Given the description of an element on the screen output the (x, y) to click on. 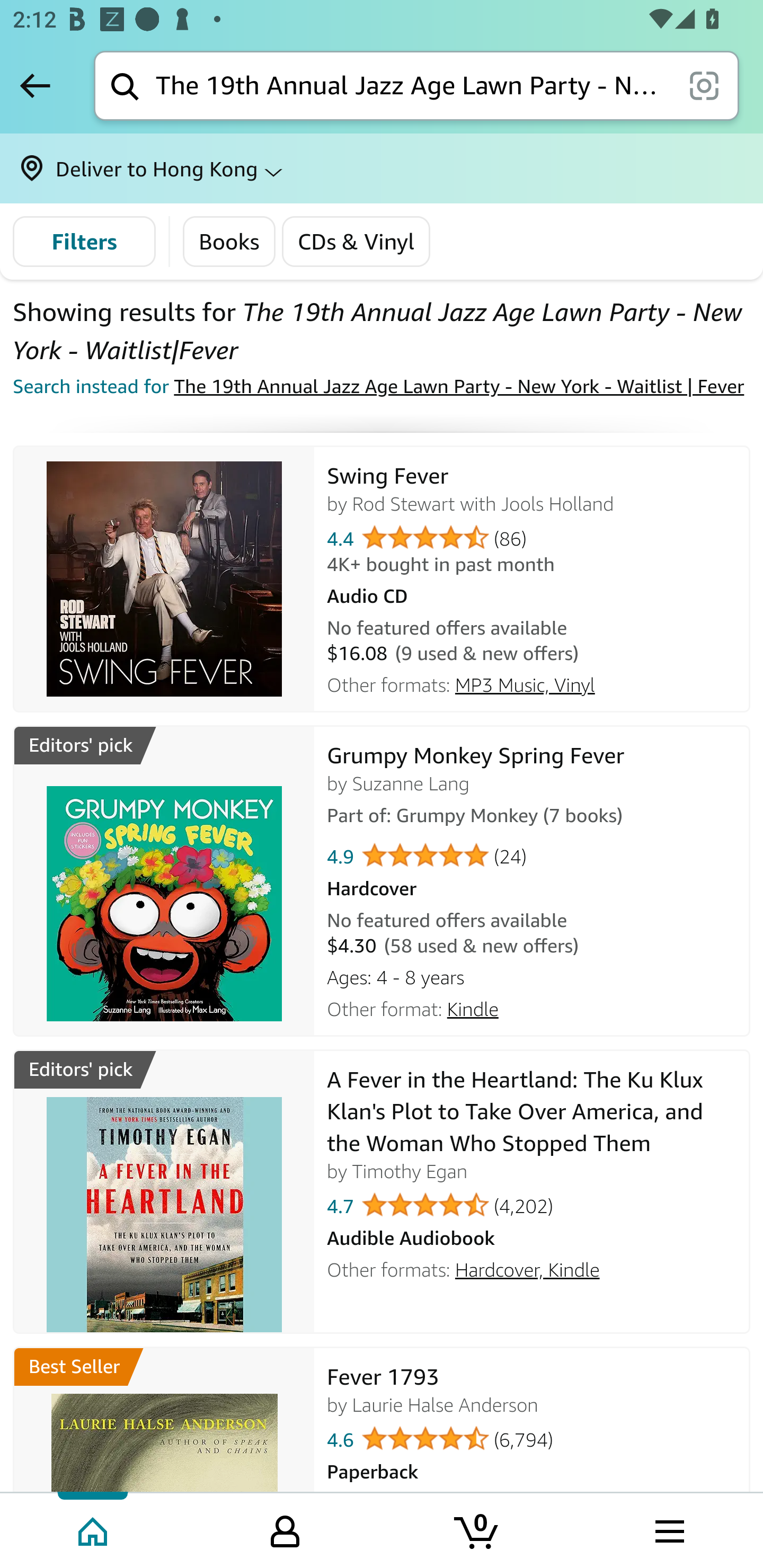
Back (35, 85)
scan it (704, 85)
Deliver to Hong Kong ⌵ (381, 168)
Filters (83, 241)
Books (229, 241)
CDs & Vinyl (356, 241)
Swing Fever (164, 578)
Best Seller Fever 1793 Best Seller Fever 1793 (164, 1453)
Home Tab 1 of 4 (94, 1529)
Your Amazon.com Tab 2 of 4 (285, 1529)
Cart 0 item Tab 3 of 4 0 (477, 1529)
Browse menu Tab 4 of 4 (668, 1529)
